Given the description of an element on the screen output the (x, y) to click on. 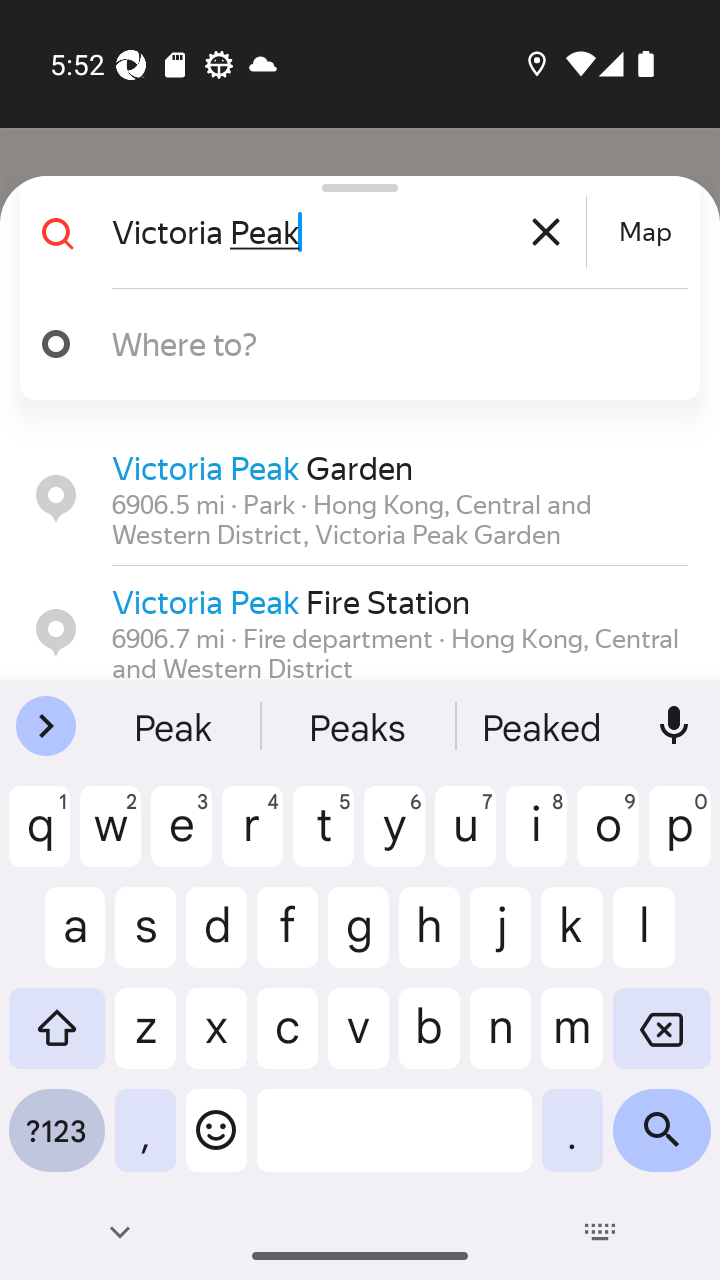
Victoria Peak Clear text box Map Map (352, 232)
Map (645, 232)
Clear text box (546, 231)
Victoria Peak (346, 232)
Where to? (352, 343)
Where to? (373, 343)
